Given the description of an element on the screen output the (x, y) to click on. 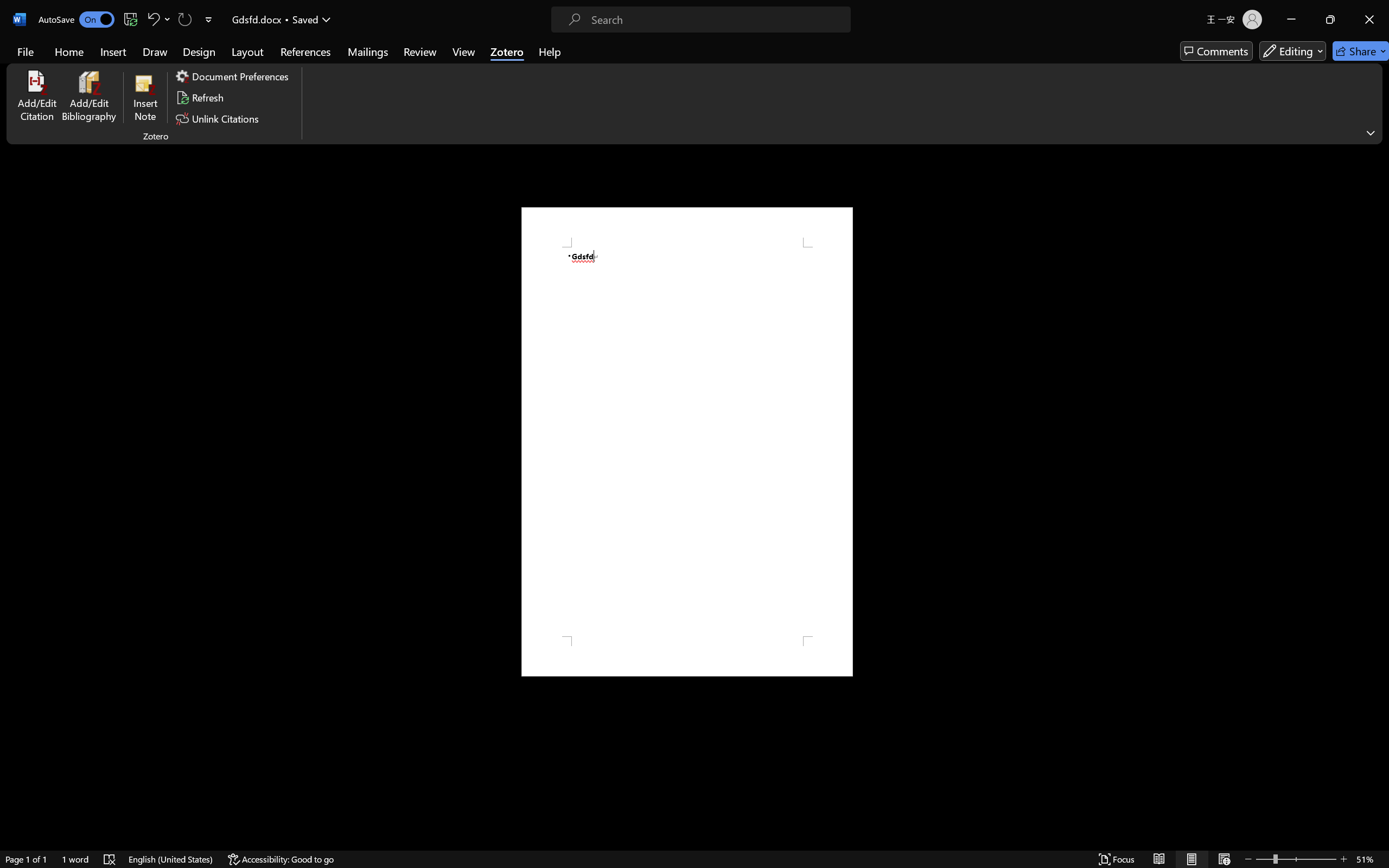
Page 1 content (686, 441)
